Given the description of an element on the screen output the (x, y) to click on. 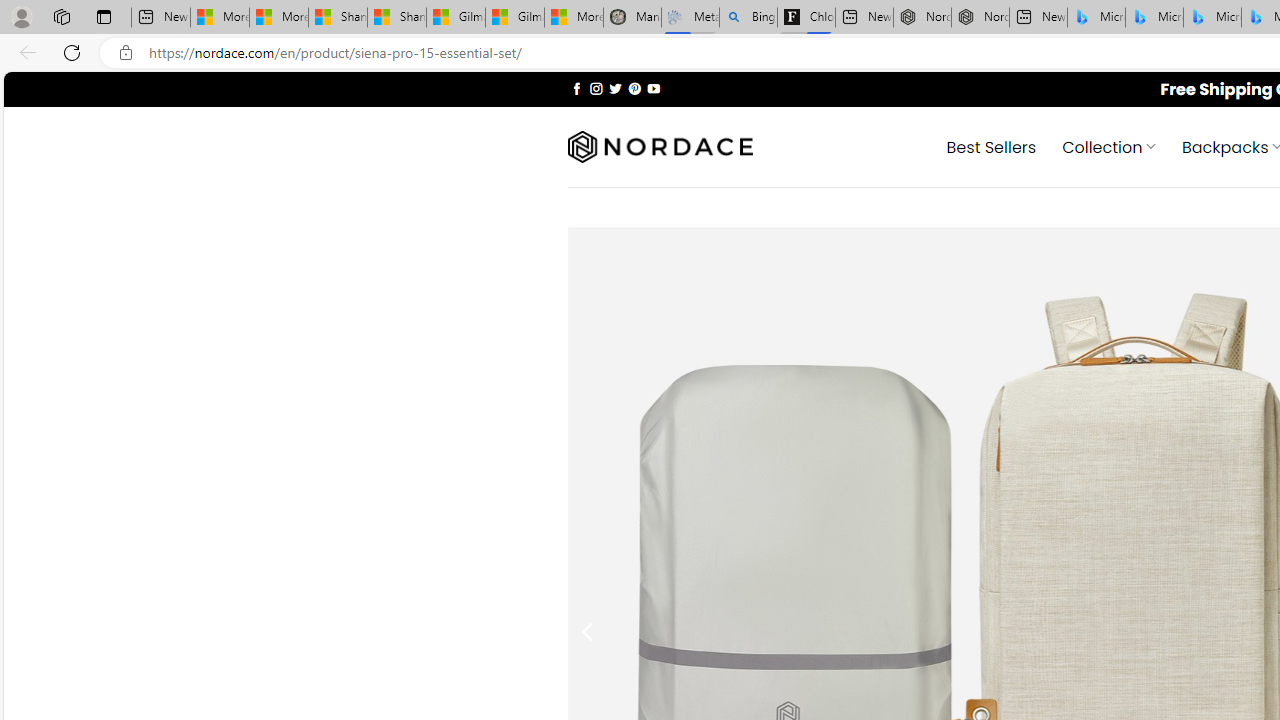
 Best Sellers (990, 146)
Gilma and Hector both pose tropical trouble for Hawaii (514, 17)
Chloe Sorvino (806, 17)
Manatee Mortality Statistics | FWC (632, 17)
Follow on YouTube (653, 88)
Follow on Instagram (596, 88)
